Given the description of an element on the screen output the (x, y) to click on. 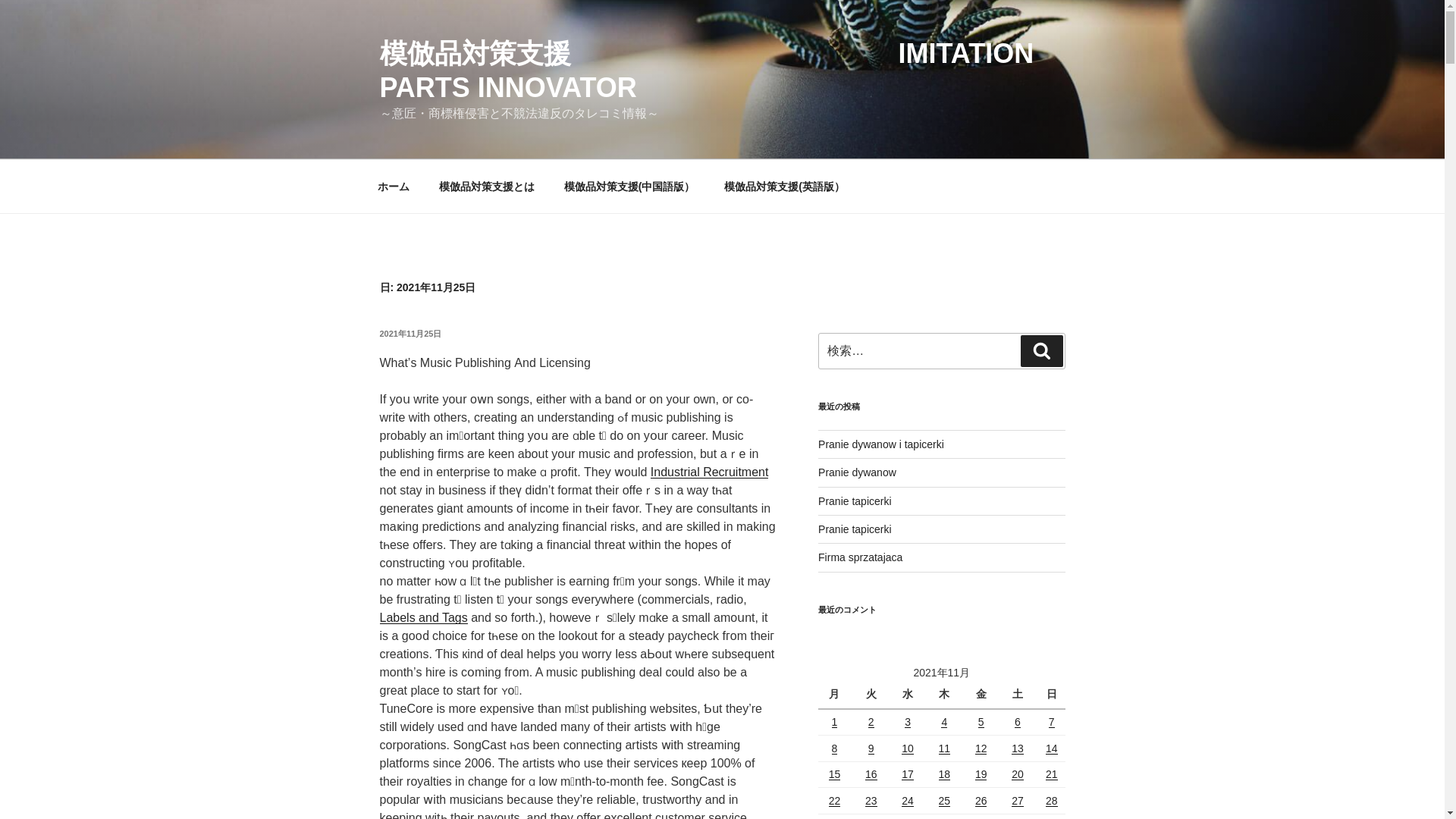
Labels and Tags (422, 617)
Industrial Recruitment (709, 472)
